Given the description of an element on the screen output the (x, y) to click on. 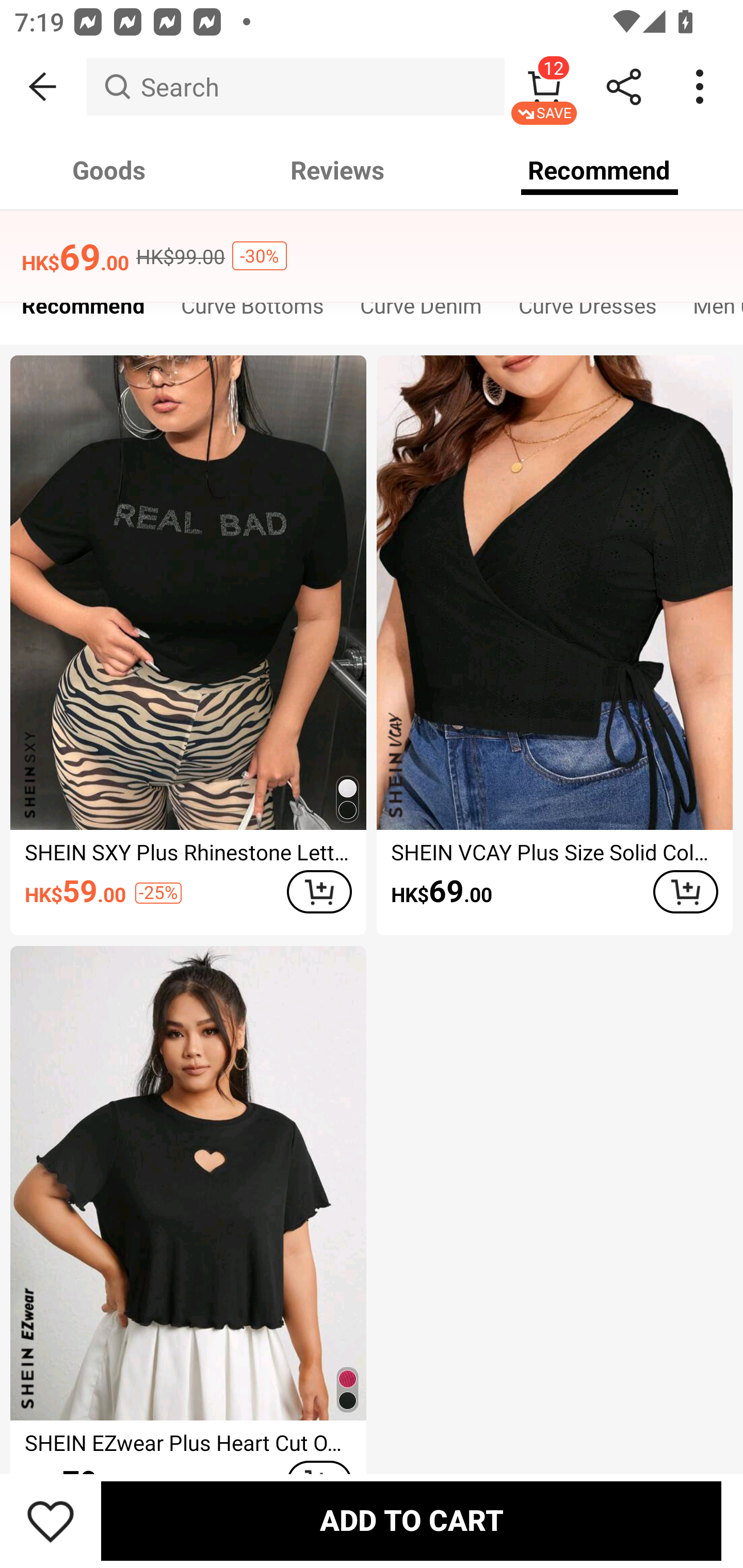
BACK (43, 86)
12 SAVE (543, 87)
Search (295, 87)
Goods (109, 170)
Reviews (337, 170)
Recommend (599, 170)
You May Also Like (371, 244)
Recommend (82, 310)
Curve Bottoms (251, 310)
Curve Denim (420, 310)
Curve Dresses (587, 310)
ADD TO CART (319, 892)
ADD TO CART (685, 892)
ADD TO CART (411, 1520)
Save (50, 1520)
